Given the description of an element on the screen output the (x, y) to click on. 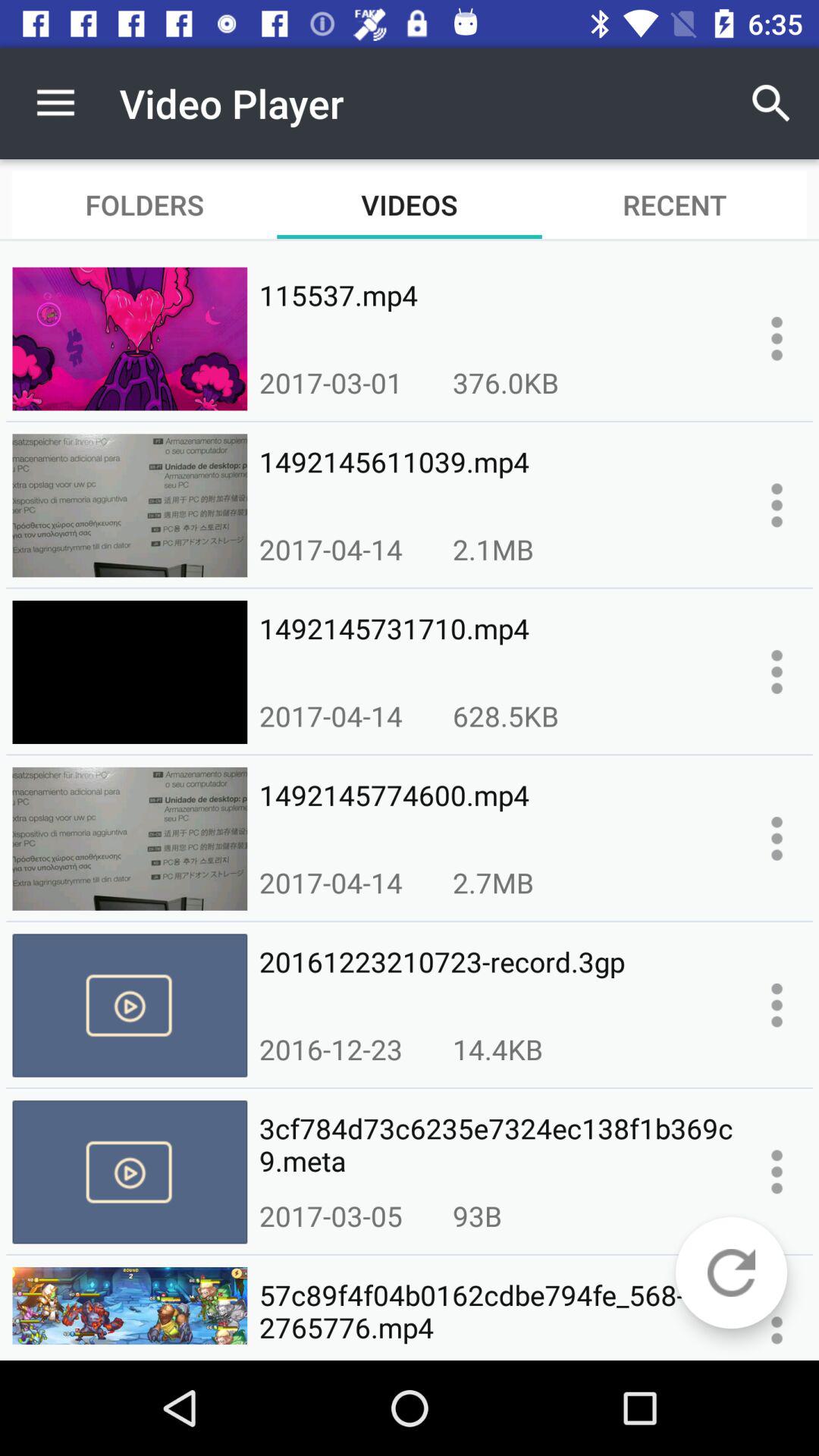
more information about the video (776, 505)
